Given the description of an element on the screen output the (x, y) to click on. 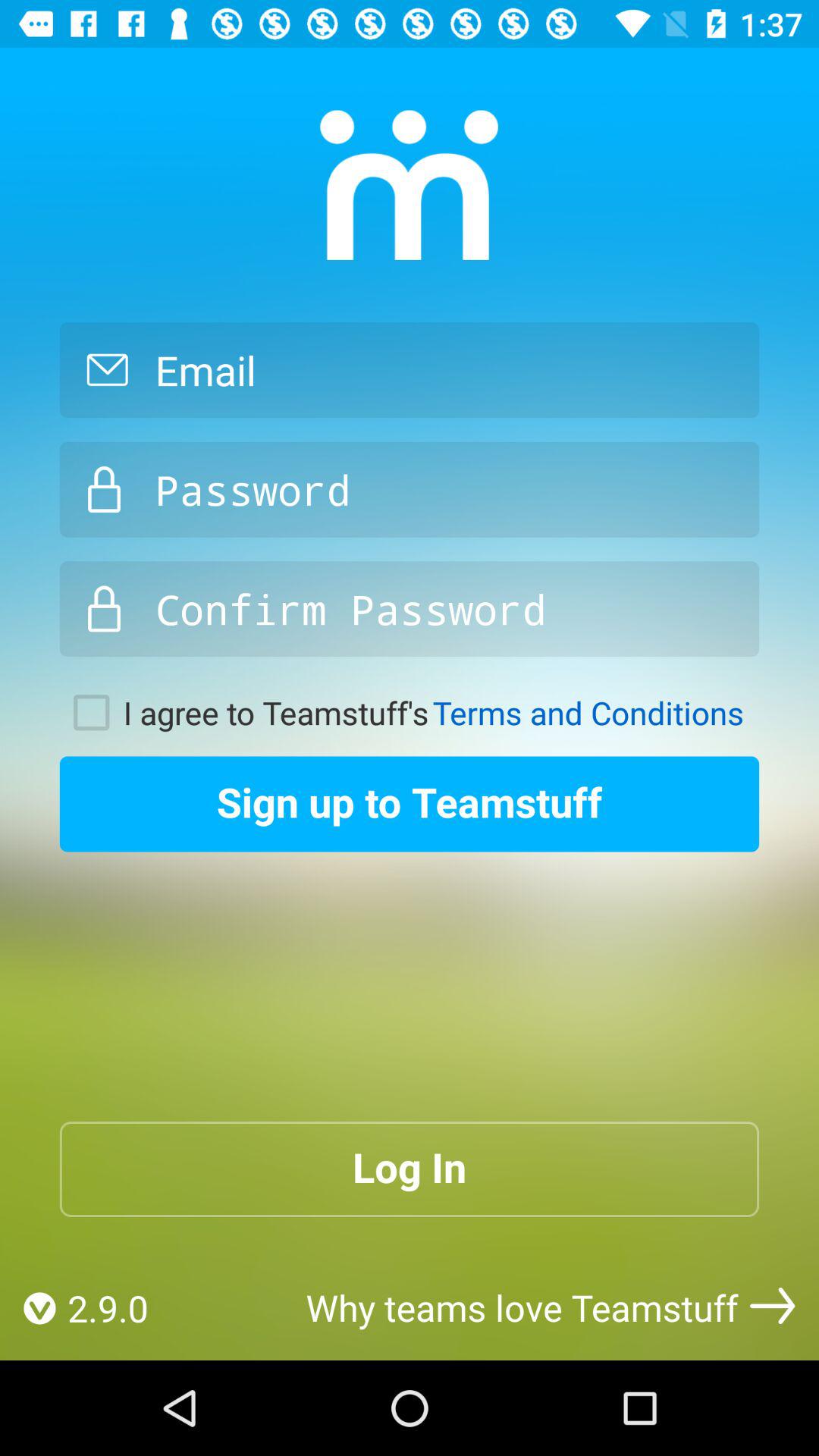
go to confirm pass work box (409, 608)
